Given the description of an element on the screen output the (x, y) to click on. 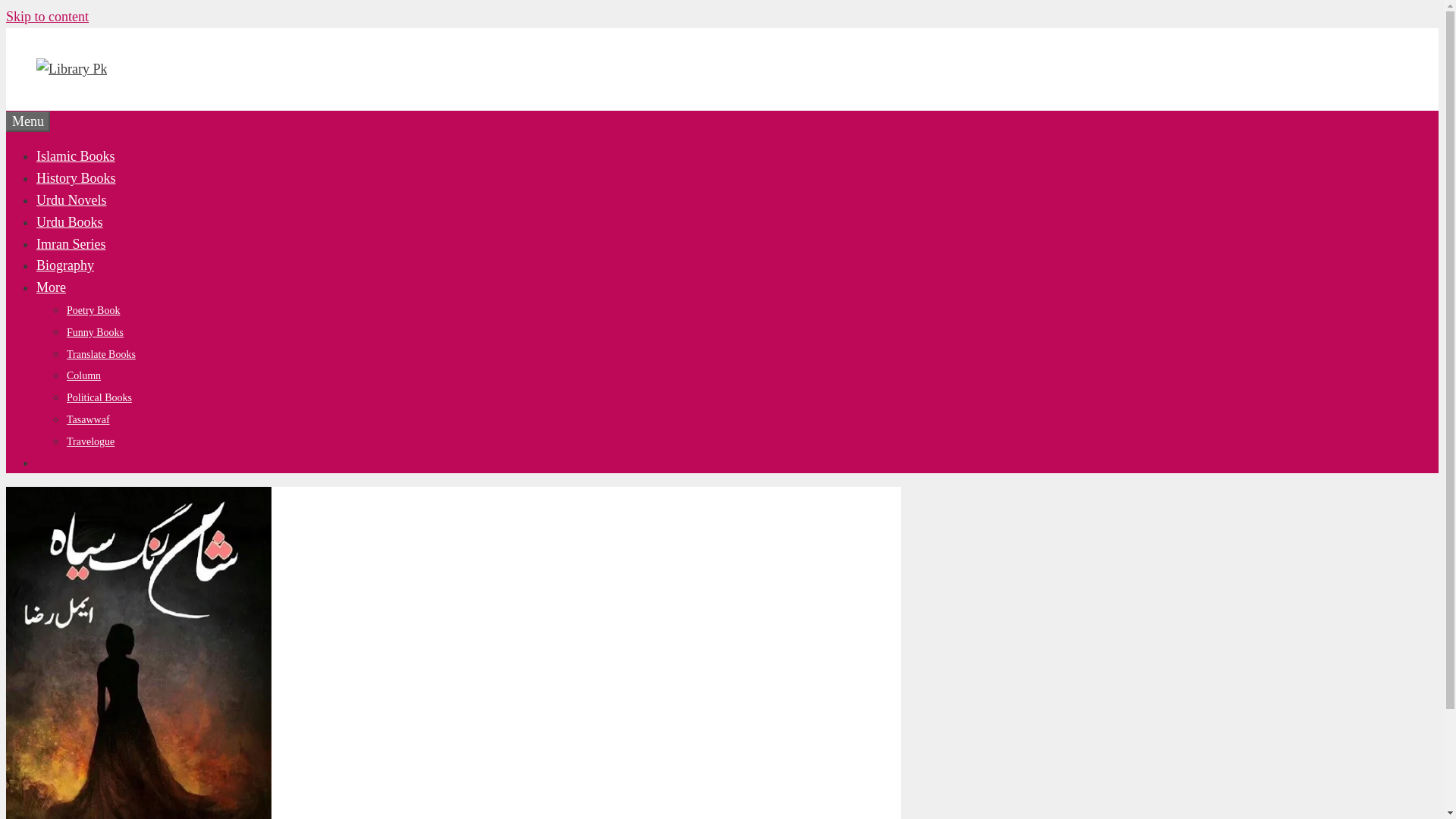
Islamic Books (75, 155)
More (50, 287)
Urdu Books (69, 222)
Urdu Novels (71, 200)
Tasawwaf (88, 419)
History Books (76, 177)
Translate Books (100, 354)
Skip to content (46, 16)
Poetry Book (92, 310)
Skip to content (46, 16)
Column (83, 375)
Funny Books (94, 332)
Imran Series (70, 243)
Menu (27, 121)
Biography (65, 264)
